Given the description of an element on the screen output the (x, y) to click on. 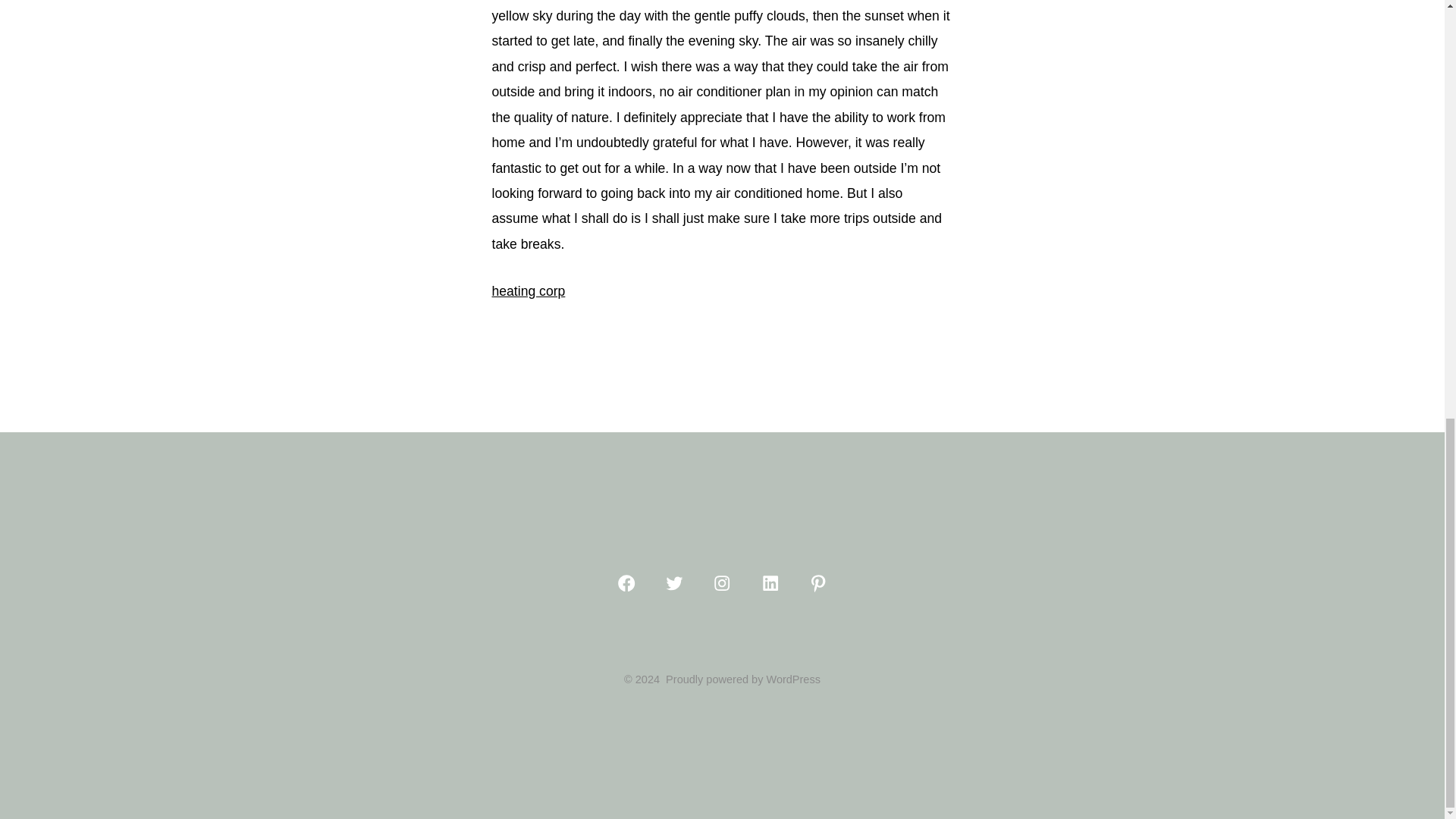
heating corp (528, 290)
Open LinkedIn in a new tab (770, 583)
Open Pinterest in a new tab (818, 583)
Open Instagram in a new tab (722, 583)
Open Facebook in a new tab (625, 583)
Open Twitter in a new tab (673, 583)
